Given the description of an element on the screen output the (x, y) to click on. 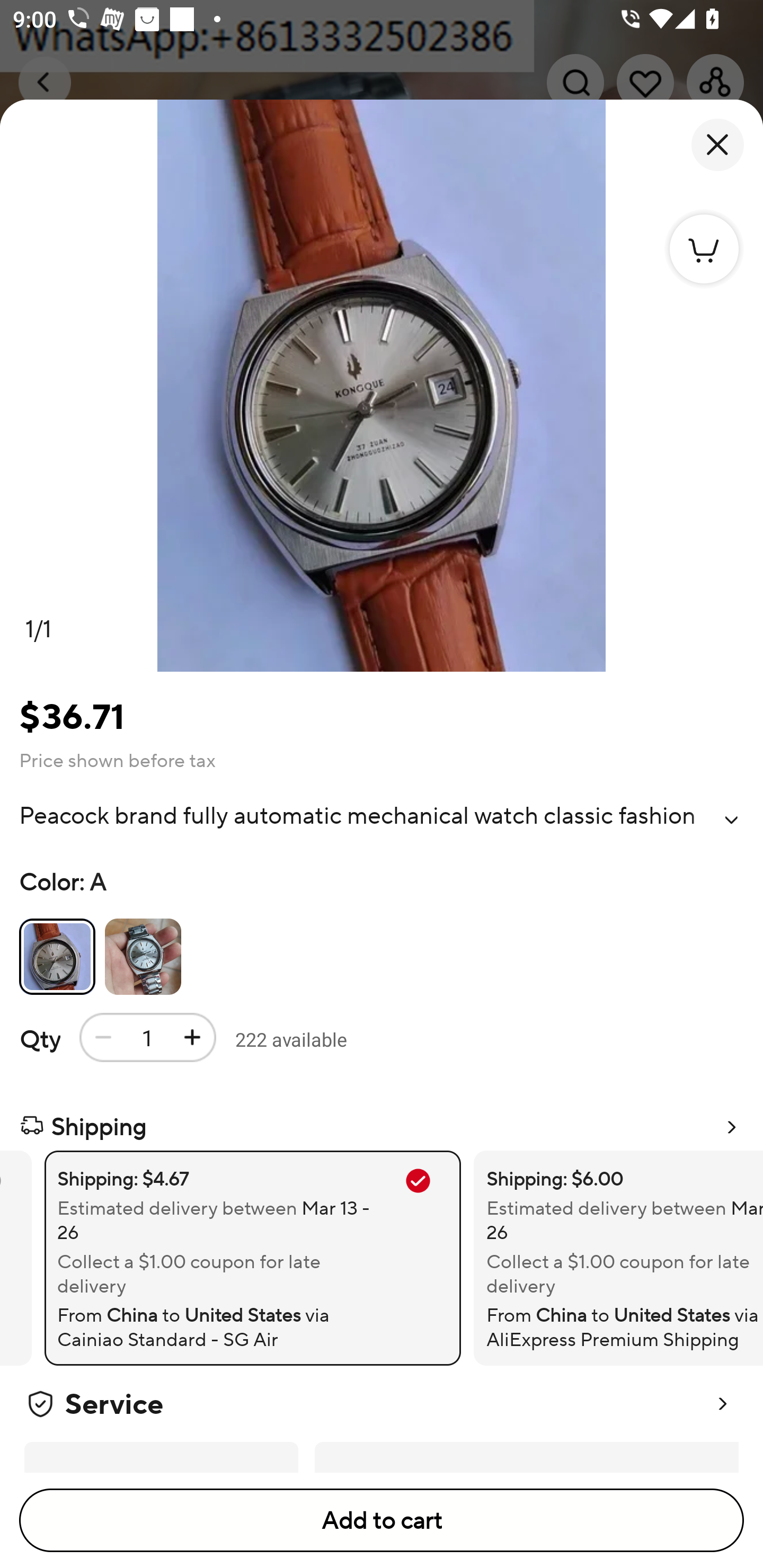
close  (717, 144)
 (730, 819)
Add to cart (381, 1520)
